Given the description of an element on the screen output the (x, y) to click on. 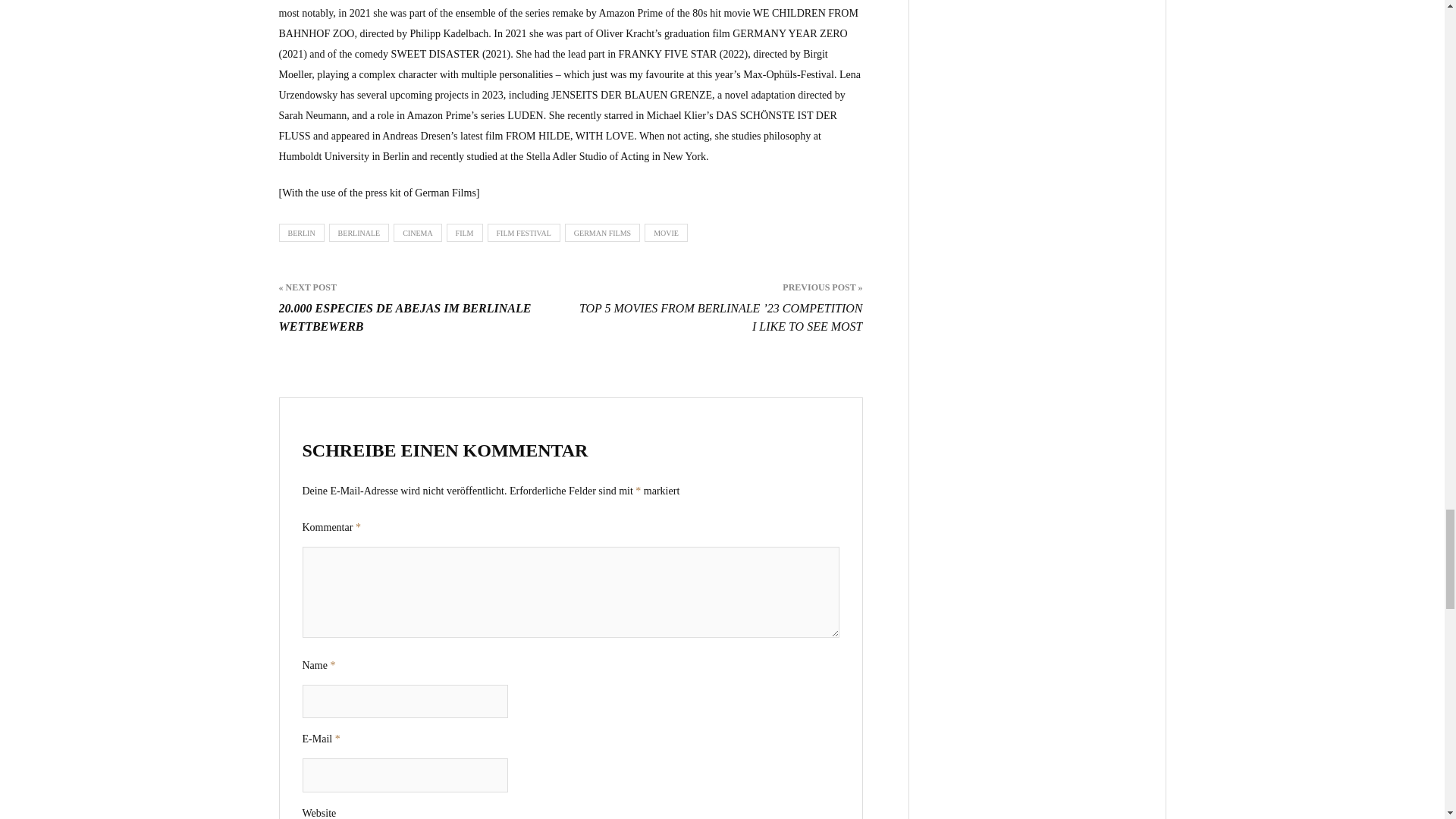
FILM (464, 232)
GERMAN FILMS (602, 232)
CINEMA (417, 232)
BERLIN (301, 232)
MOVIE (666, 232)
BERLINALE (359, 232)
FILM FESTIVAL (523, 232)
